Given the description of an element on the screen output the (x, y) to click on. 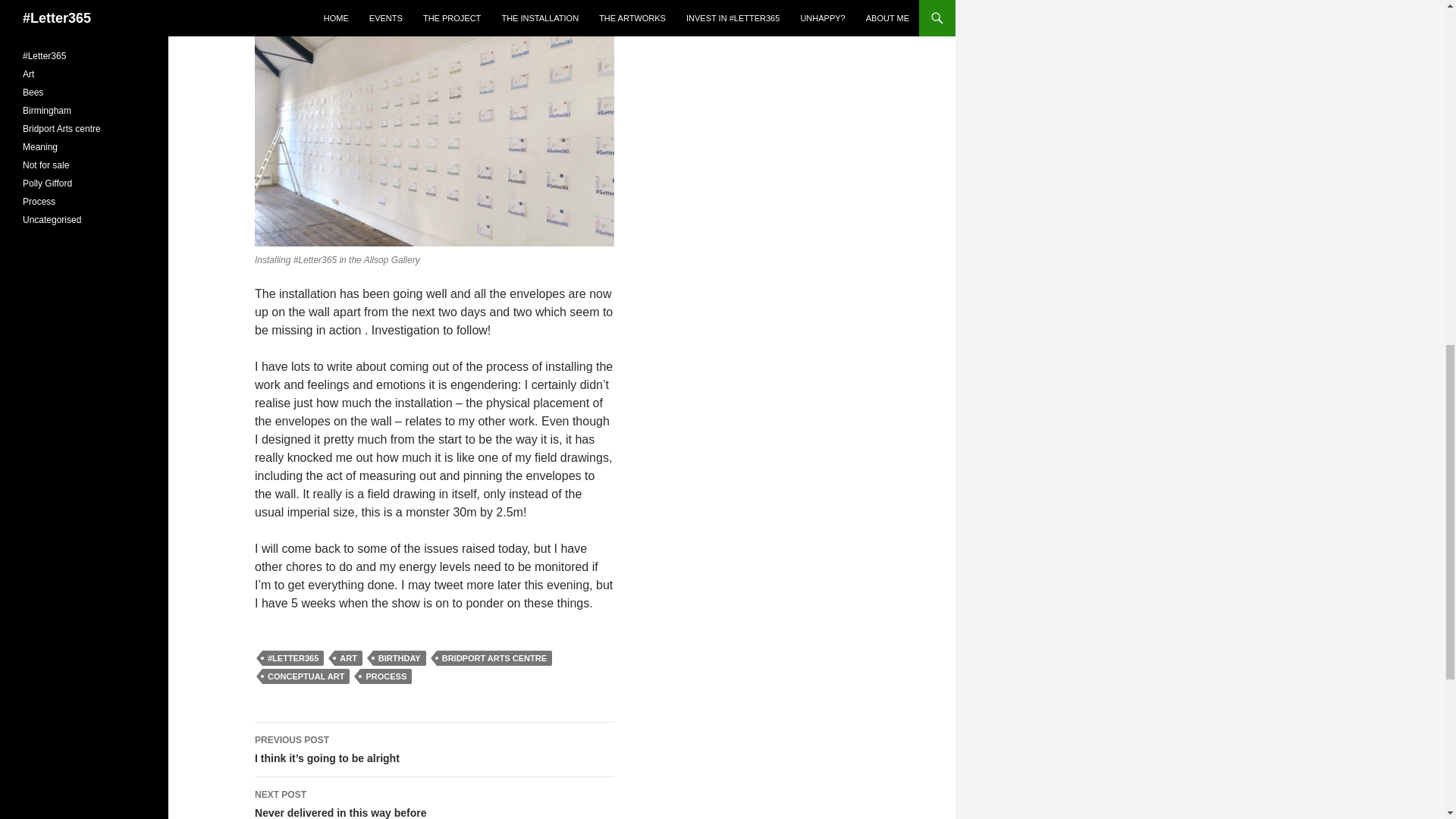
CONCEPTUAL ART (434, 798)
BIRTHDAY (305, 676)
PROCESS (399, 657)
BRIDPORT ARTS CENTRE (385, 676)
ART (493, 657)
